Given the description of an element on the screen output the (x, y) to click on. 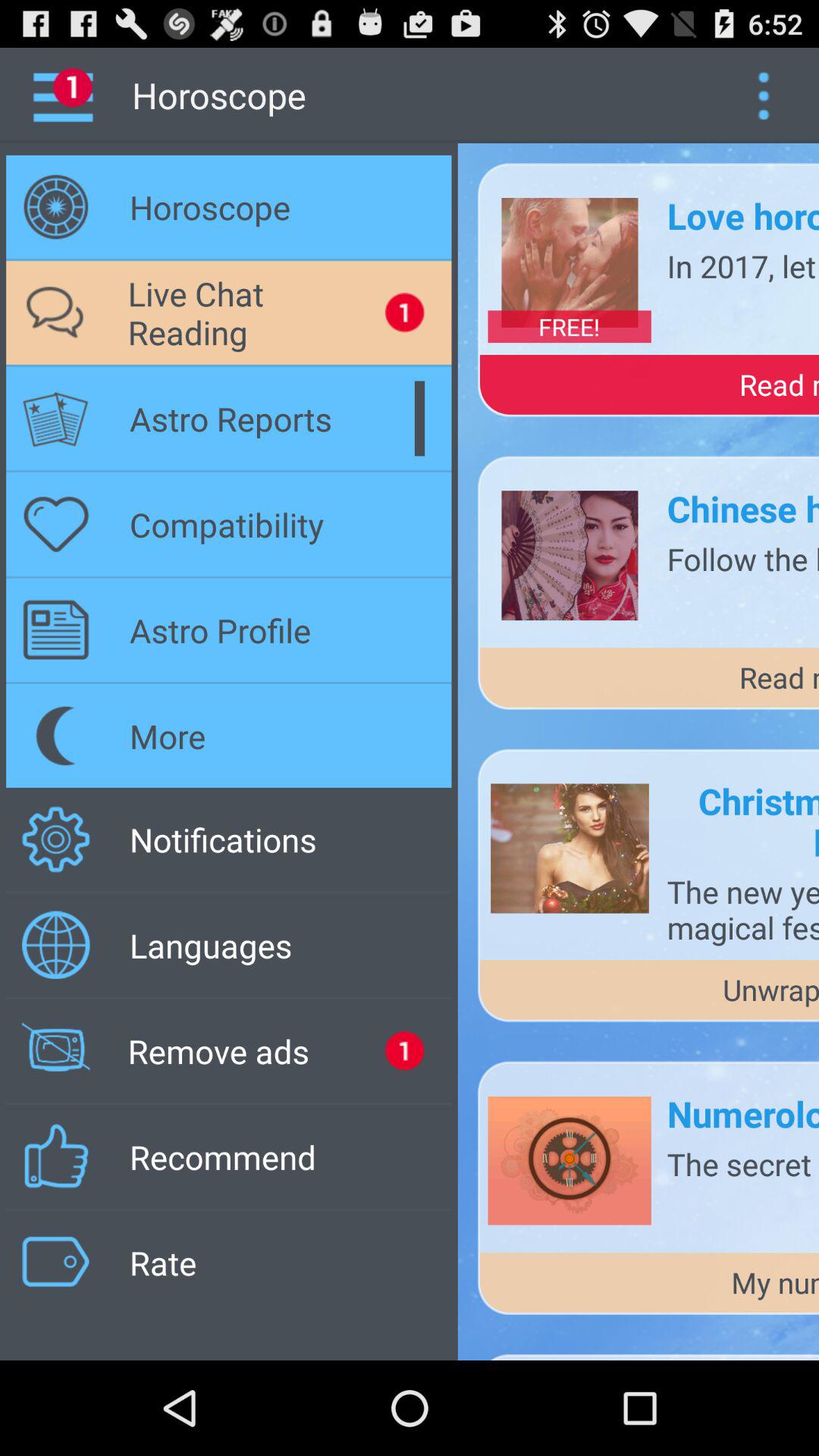
more options (763, 95)
